Given the description of an element on the screen output the (x, y) to click on. 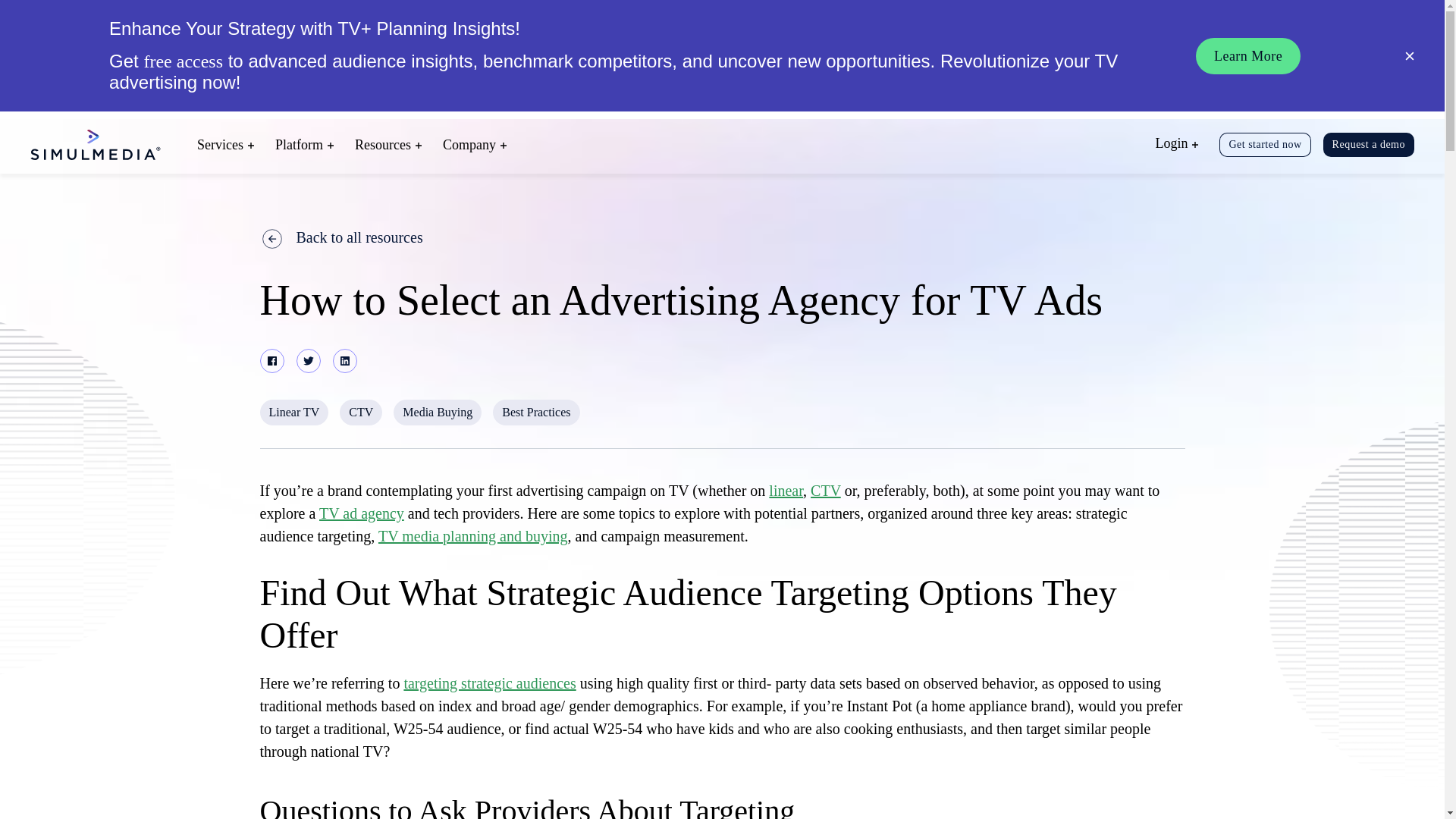
linear (785, 490)
Learn More (1247, 55)
Get started now (1265, 144)
Linear TV (294, 412)
Best Practices (536, 412)
Request a demo (1368, 144)
Media Buying (437, 412)
CTV (360, 412)
Back to all resources (722, 237)
